Given the description of an element on the screen output the (x, y) to click on. 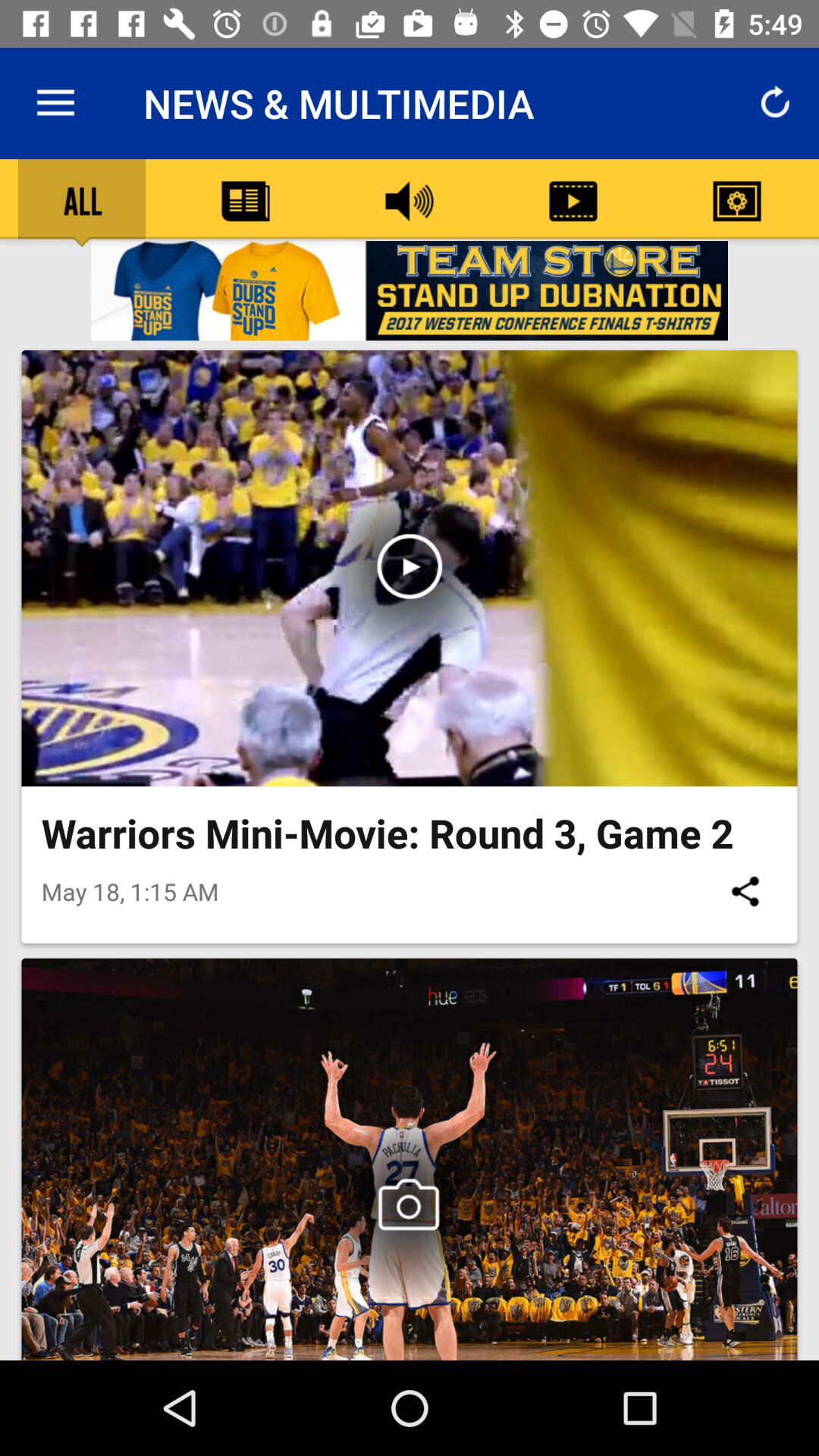
turn off the icon to the right of may 18 1 (745, 891)
